Given the description of an element on the screen output the (x, y) to click on. 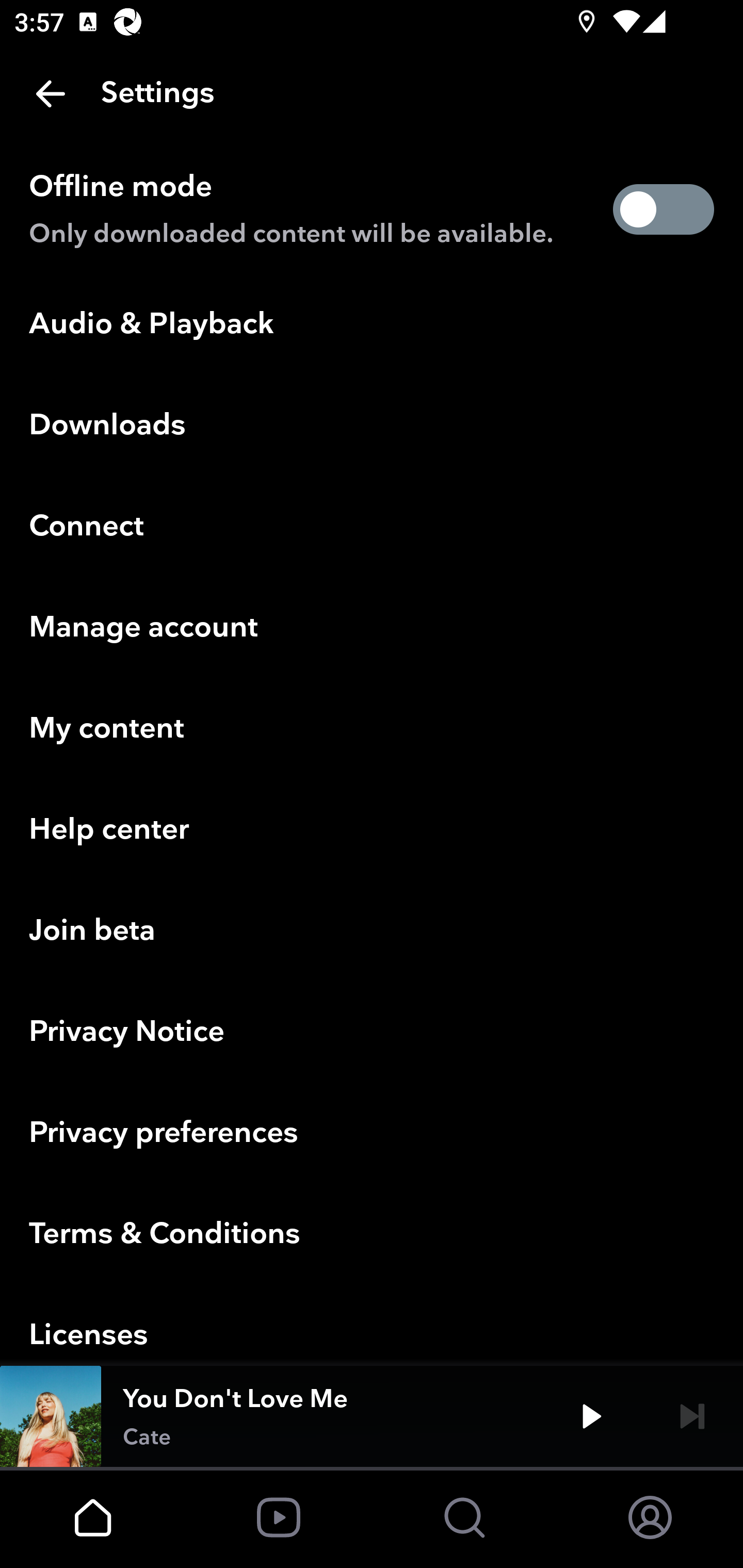
Back (50, 93)
Audio & Playback (371, 324)
Downloads (371, 425)
Connect (371, 526)
Manage account (371, 627)
My content (371, 728)
Help center (371, 830)
Join beta (371, 931)
Privacy Notice (371, 1032)
Privacy preferences (371, 1133)
Terms & Conditions (371, 1234)
Licenses (371, 1325)
You Don't Love Me Cate Play (371, 1416)
Play (590, 1416)
